Given the description of an element on the screen output the (x, y) to click on. 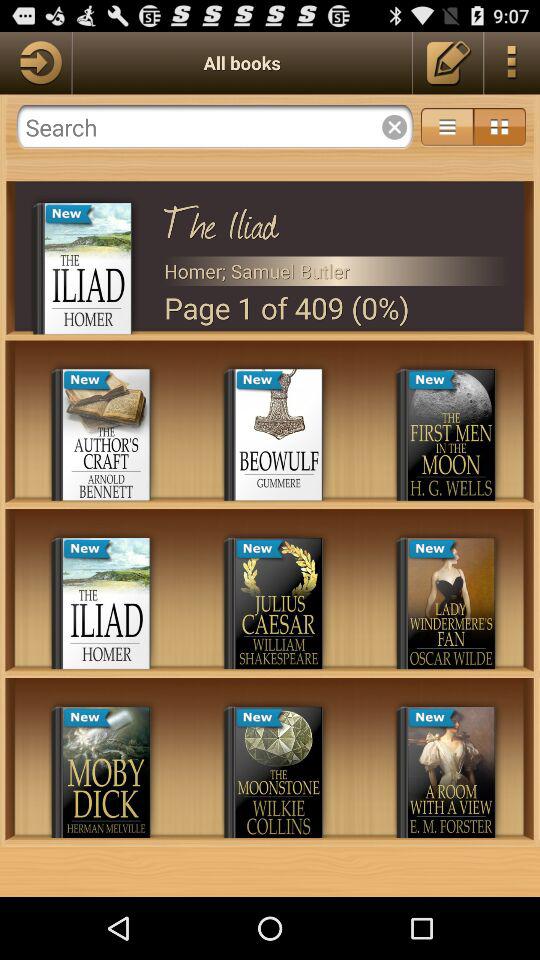
turn on the app next to the all books app (35, 62)
